Given the description of an element on the screen output the (x, y) to click on. 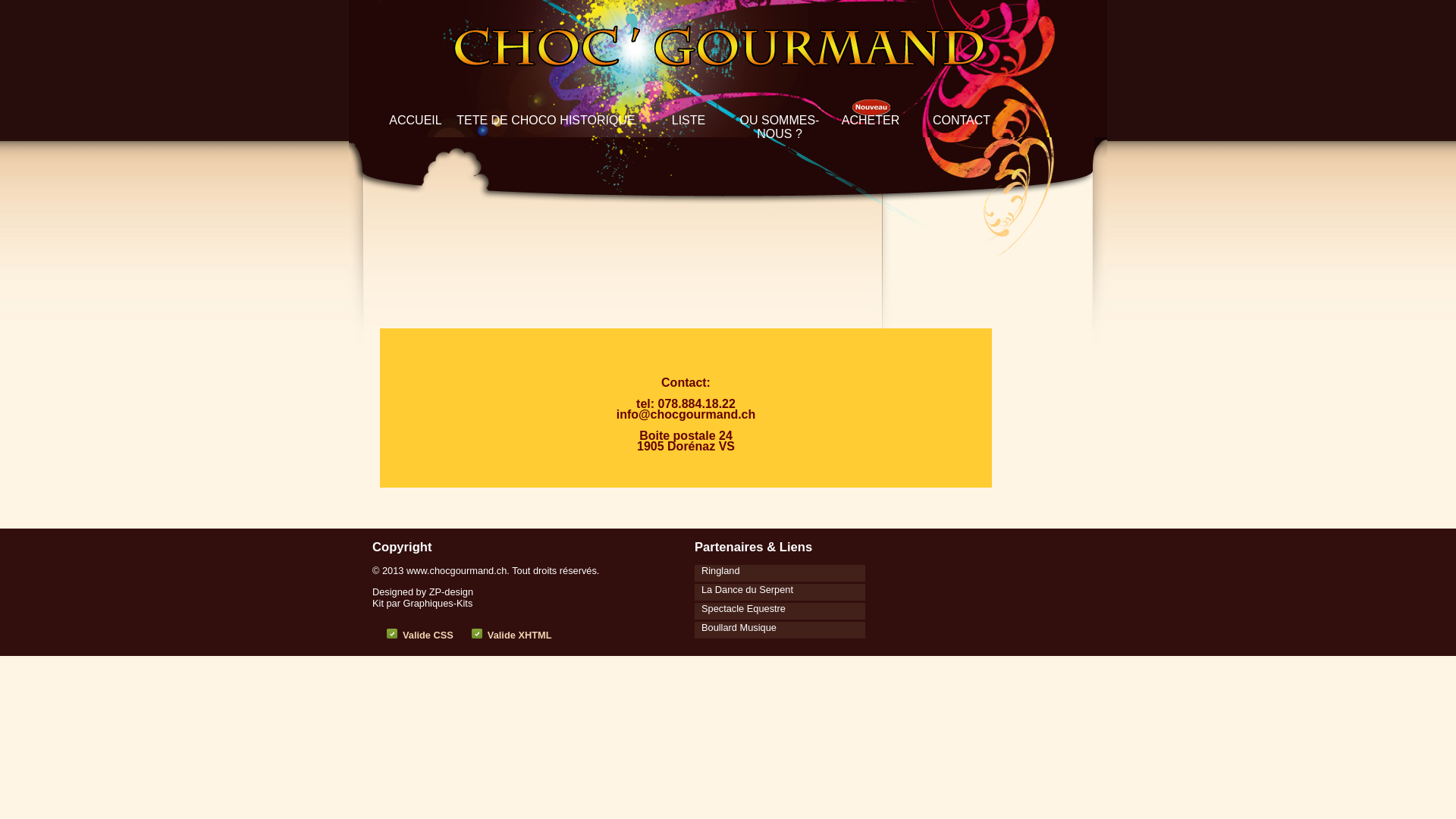
Spectacle Equestre Element type: text (739, 607)
Ringland Element type: text (717, 569)
LISTE Element type: text (688, 119)
Kit par Graphiques-Kits Element type: text (422, 602)
CONTACT Element type: text (961, 119)
Boullard Musique Element type: text (735, 626)
Valide CSS Element type: text (427, 634)
Valide XHTML Element type: text (519, 634)
ACCUEIL Element type: text (415, 119)
La Dance du Serpent Element type: text (743, 588)
ACHETER Element type: text (870, 119)
OU SOMMES-NOUS ? Element type: text (779, 126)
HISTORIQUE Element type: text (596, 119)
TETE DE CHOCO Element type: text (506, 119)
